Given the description of an element on the screen output the (x, y) to click on. 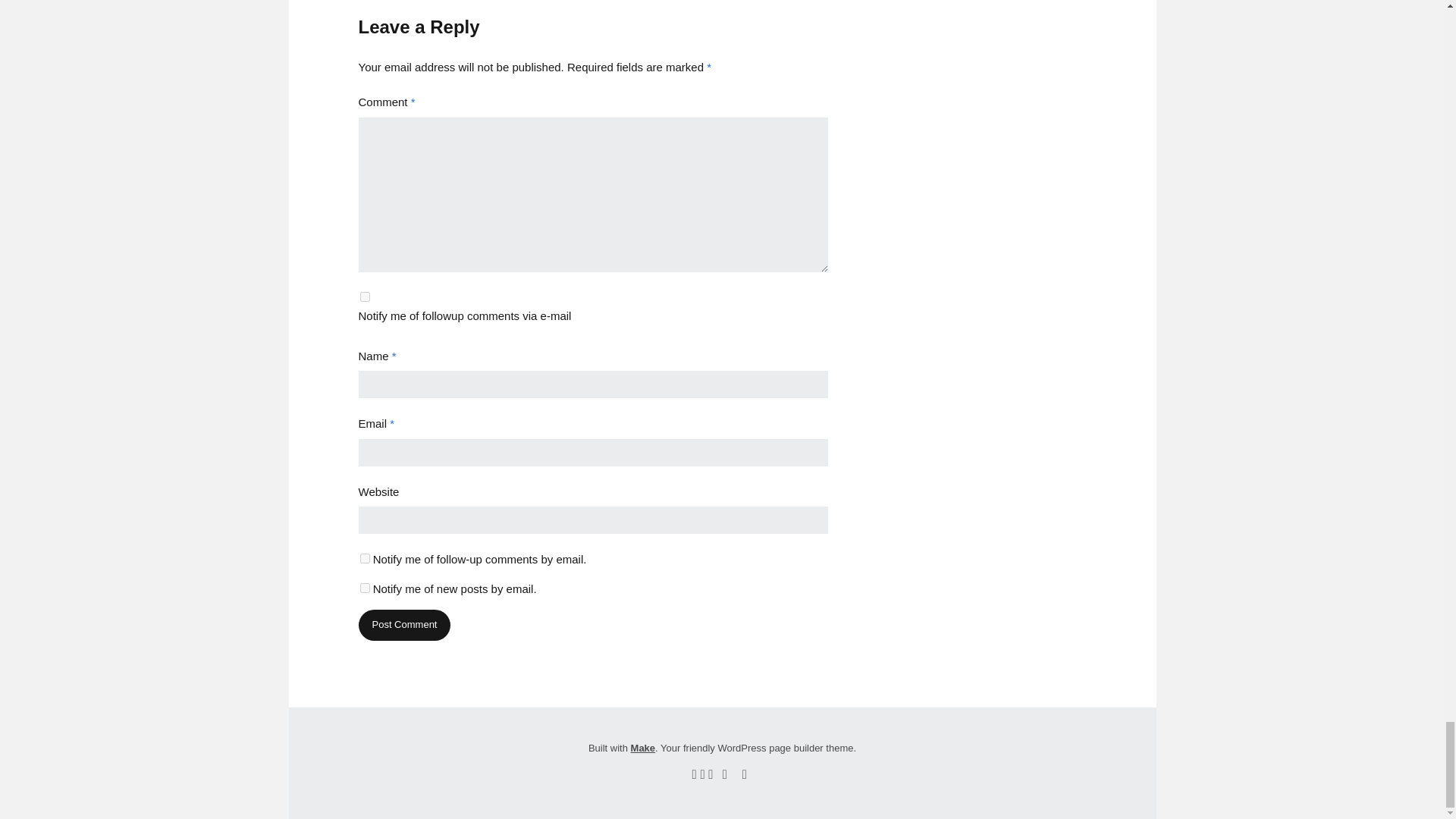
subscribe (364, 558)
Post Comment (403, 624)
subscribe (364, 296)
subscribe (364, 587)
